Given the description of an element on the screen output the (x, y) to click on. 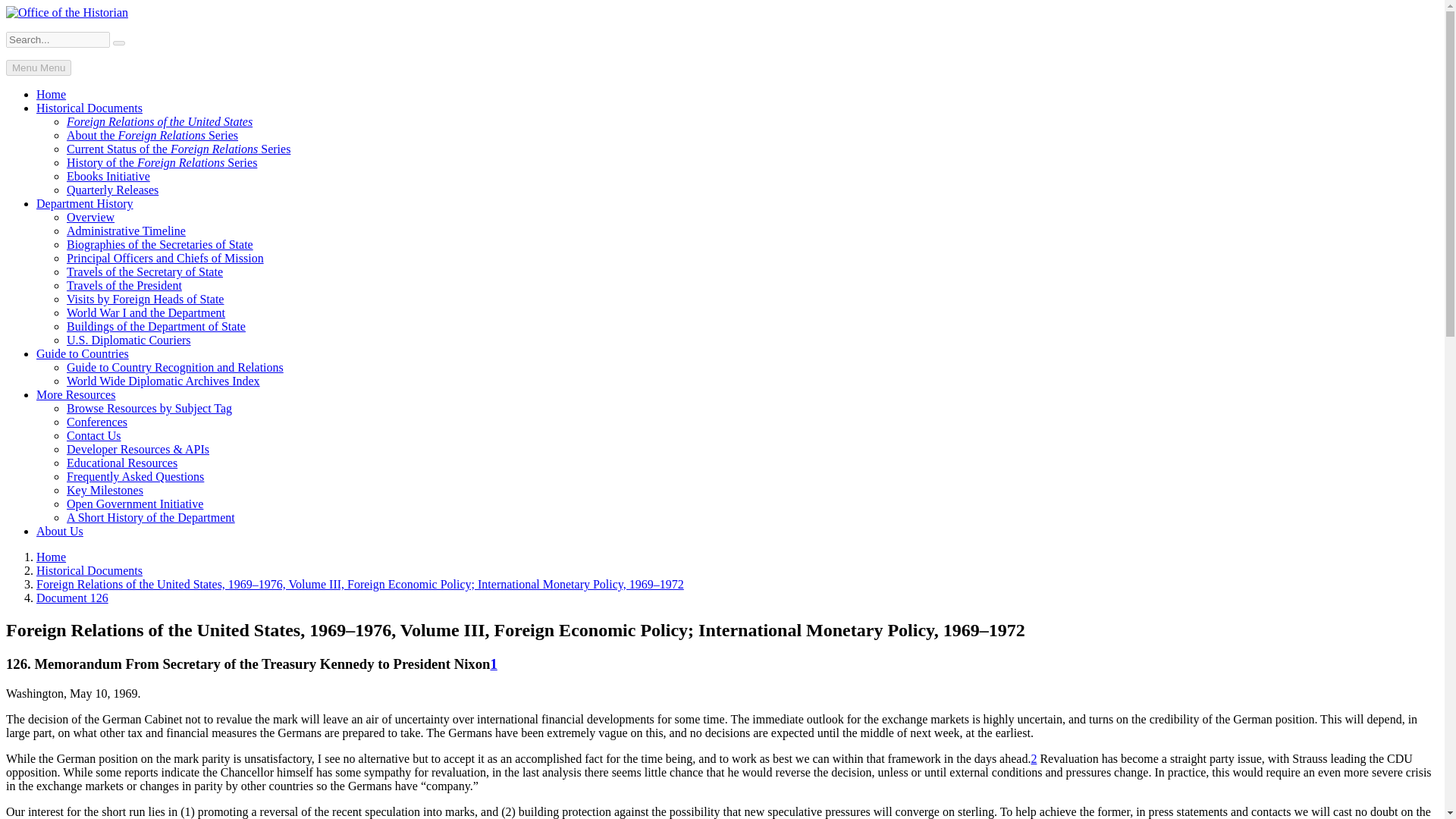
Foreign Relations of the United States (158, 121)
Menu Menu (38, 67)
Conferences (97, 421)
Current Status of the Foreign Relations Series (177, 148)
Key Milestones (104, 490)
Biographies of the Secretaries of State (159, 244)
World Wide Diplomatic Archives Index (163, 380)
Quarterly Releases (112, 189)
Open Government Initiative (134, 503)
Educational Resources (121, 462)
Administrative Timeline (126, 230)
Document 126 (71, 597)
Home (50, 93)
Historical Documents (89, 107)
Department History (84, 203)
